Given the description of an element on the screen output the (x, y) to click on. 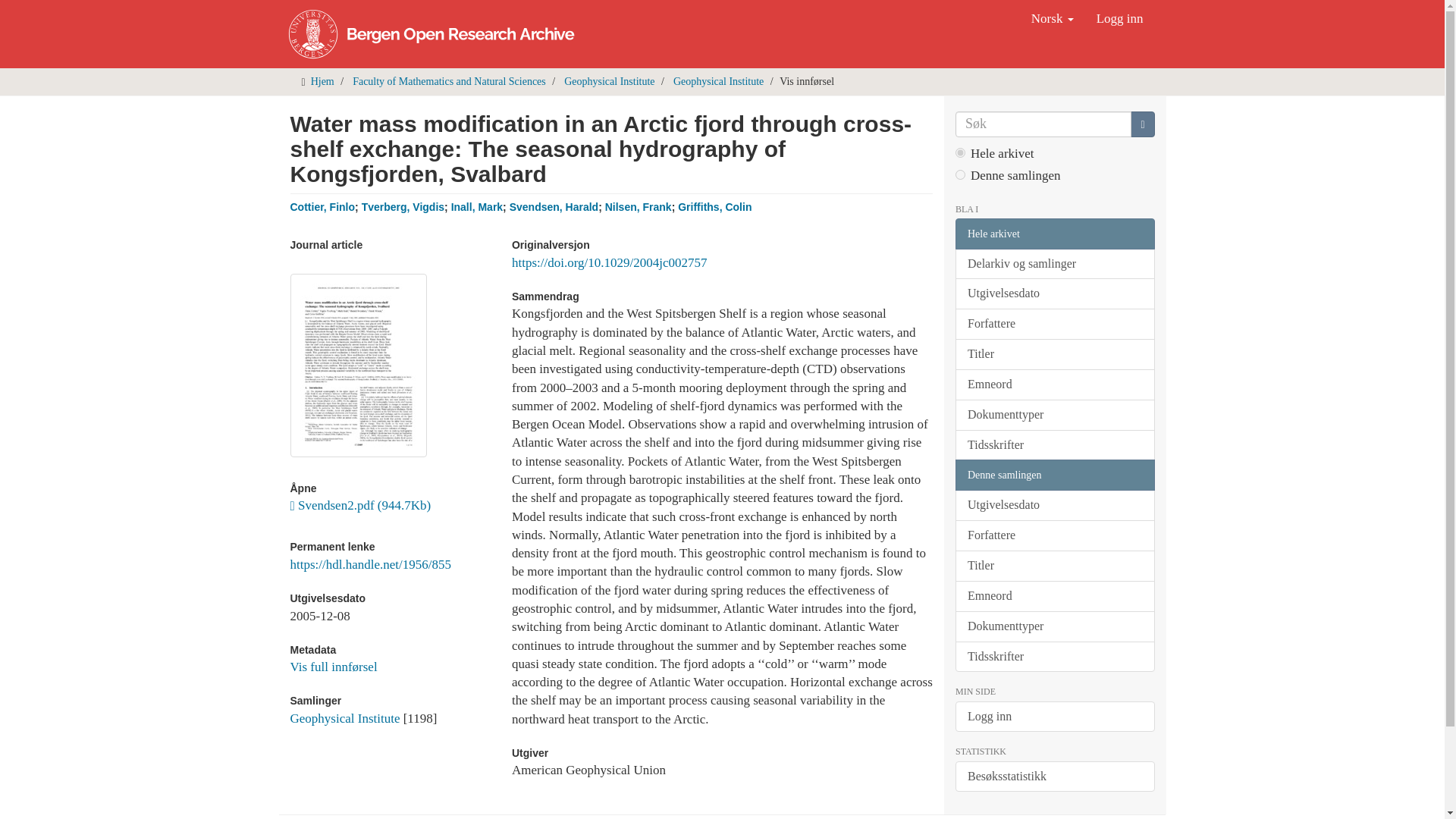
Nilsen, Frank (638, 206)
Cottier, Finlo (322, 206)
Geophysical Institute (717, 81)
Norsk  (1052, 18)
Inall, Mark (476, 206)
Faculty of Mathematics and Natural Sciences (449, 81)
Hjem (322, 81)
Geophysical Institute (608, 81)
Tverberg, Vigdis (402, 206)
Geophysical Institute (343, 718)
Griffiths, Colin (714, 206)
Logg inn (1119, 18)
Svendsen, Harald (553, 206)
